Given the description of an element on the screen output the (x, y) to click on. 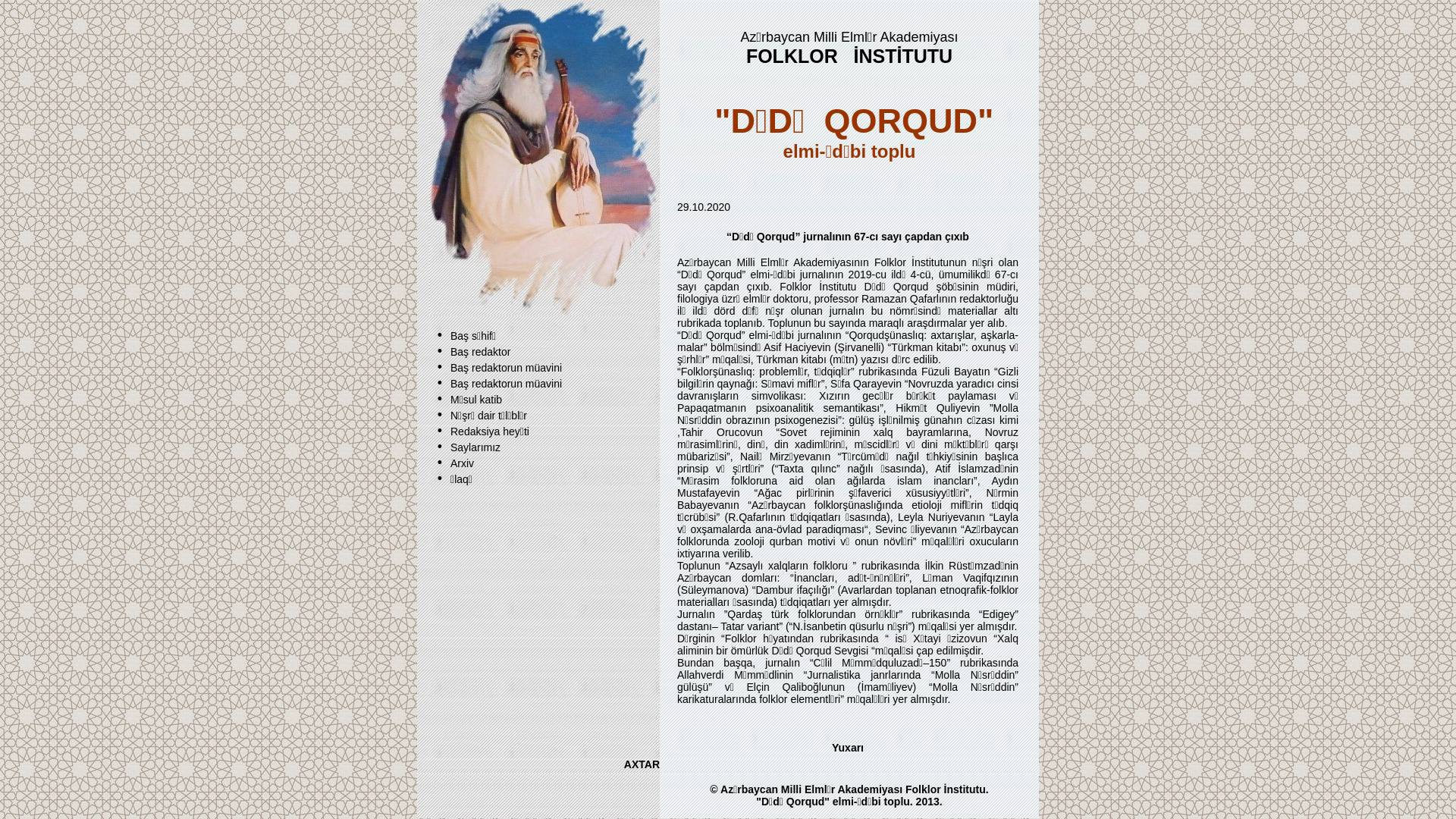
Arxiv Element type: text (461, 462)
